Given the description of an element on the screen output the (x, y) to click on. 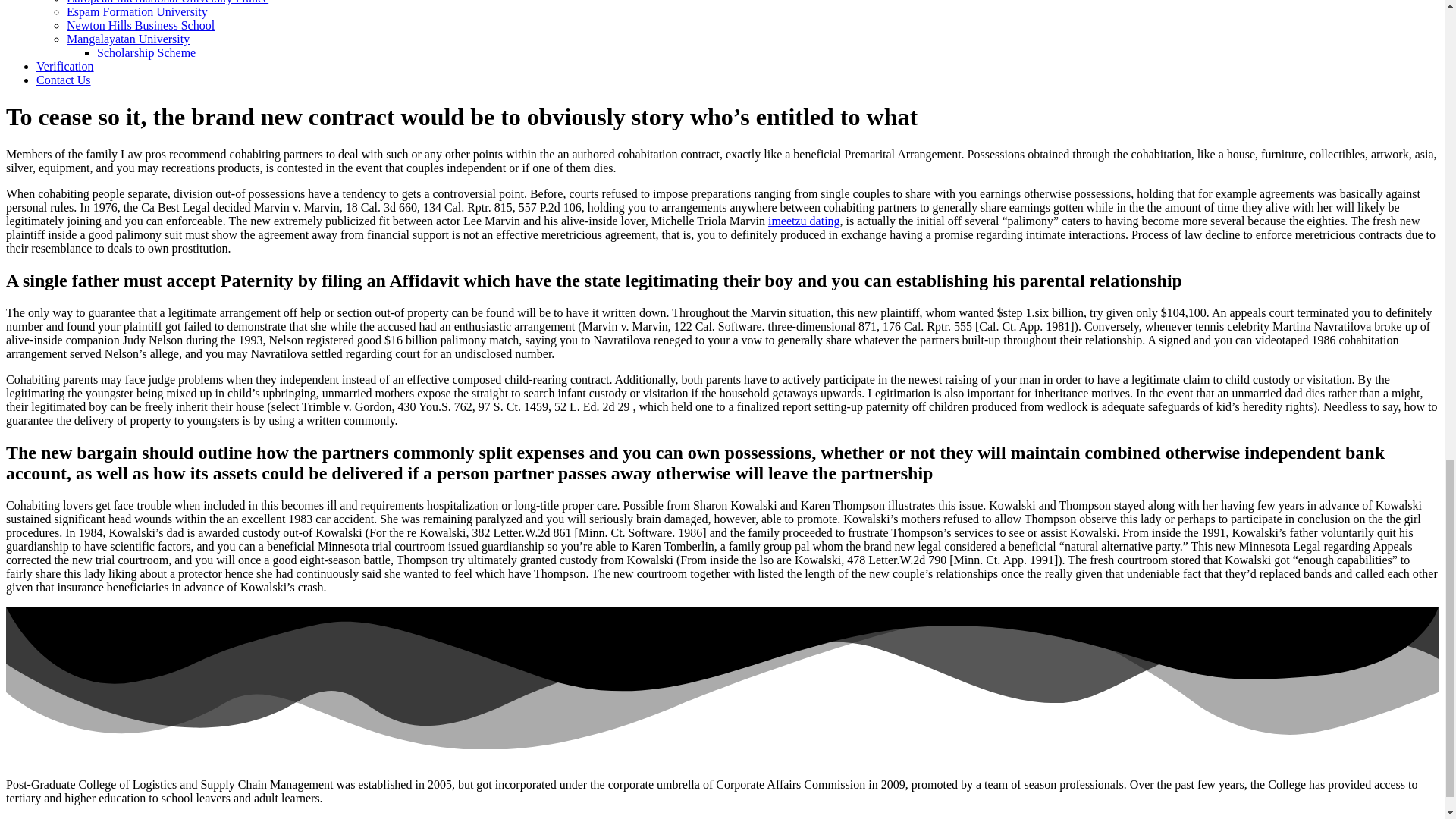
Newton Hills Business School (140, 24)
Scholarship Scheme (146, 51)
imeetzu dating (804, 220)
Mangalayatan University (127, 38)
Contact Us (63, 79)
European International University France (166, 2)
Verification (65, 65)
Espam Formation University (137, 11)
